Given the description of an element on the screen output the (x, y) to click on. 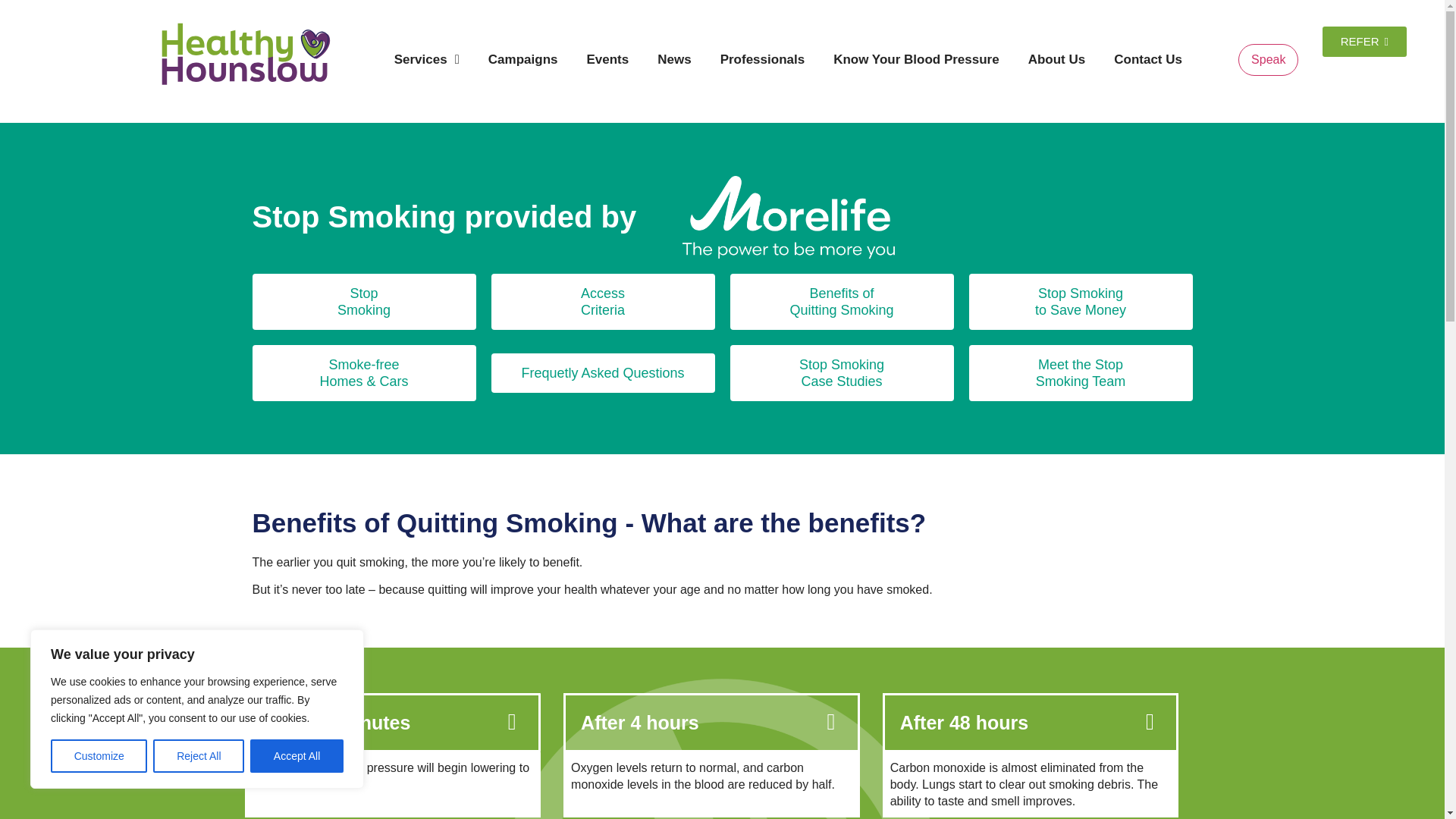
Customize (98, 756)
Listen with the ReachDeck Toolbar (1268, 60)
Services (427, 59)
Events (607, 59)
About Us (1056, 59)
Reject All (198, 756)
Know Your Blood Pressure (915, 59)
Professionals (762, 59)
Accept All (296, 756)
Campaigns (523, 59)
News (673, 59)
Contact Us (1147, 59)
